Given the description of an element on the screen output the (x, y) to click on. 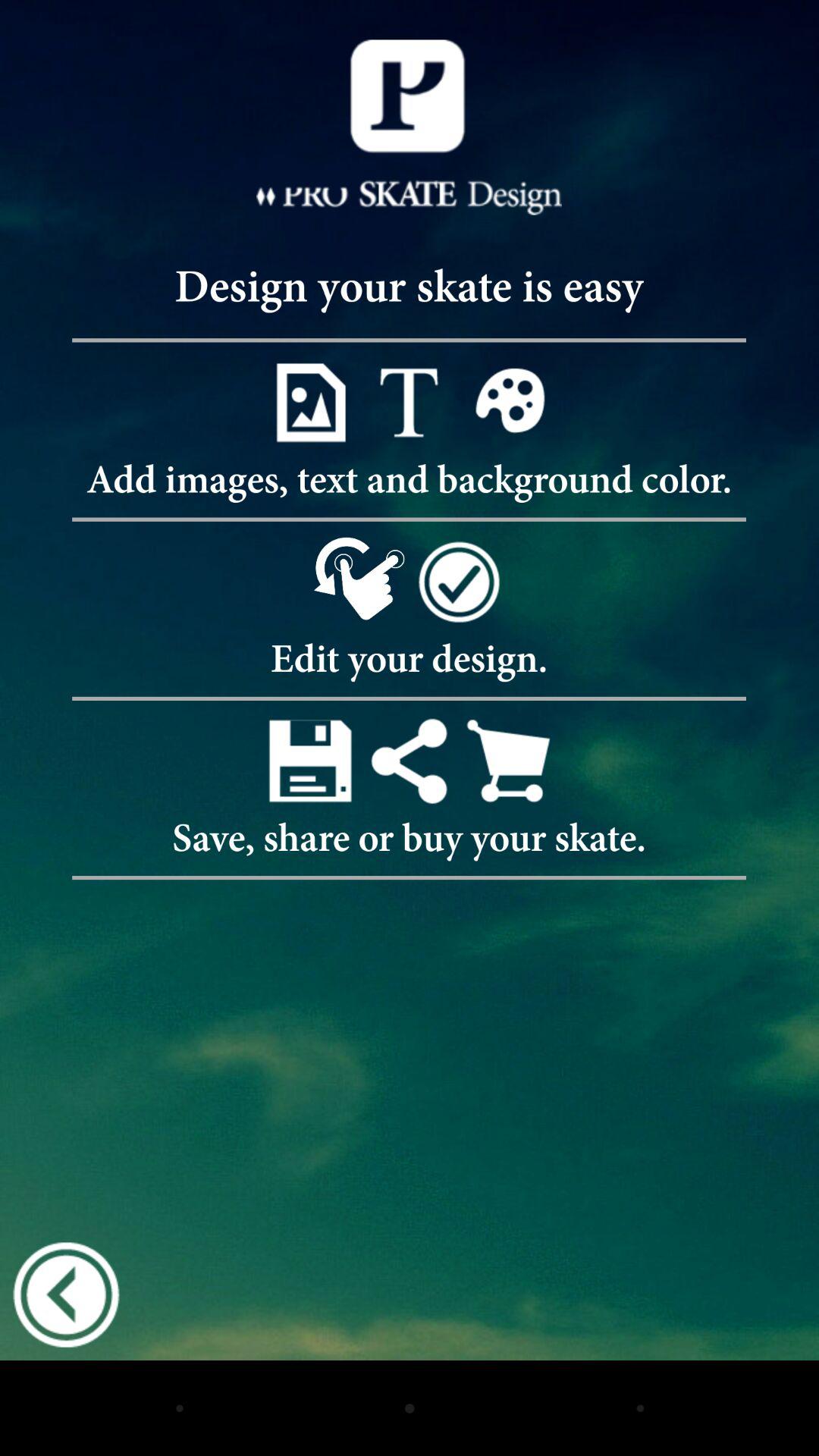
share button (408, 760)
